Given the description of an element on the screen output the (x, y) to click on. 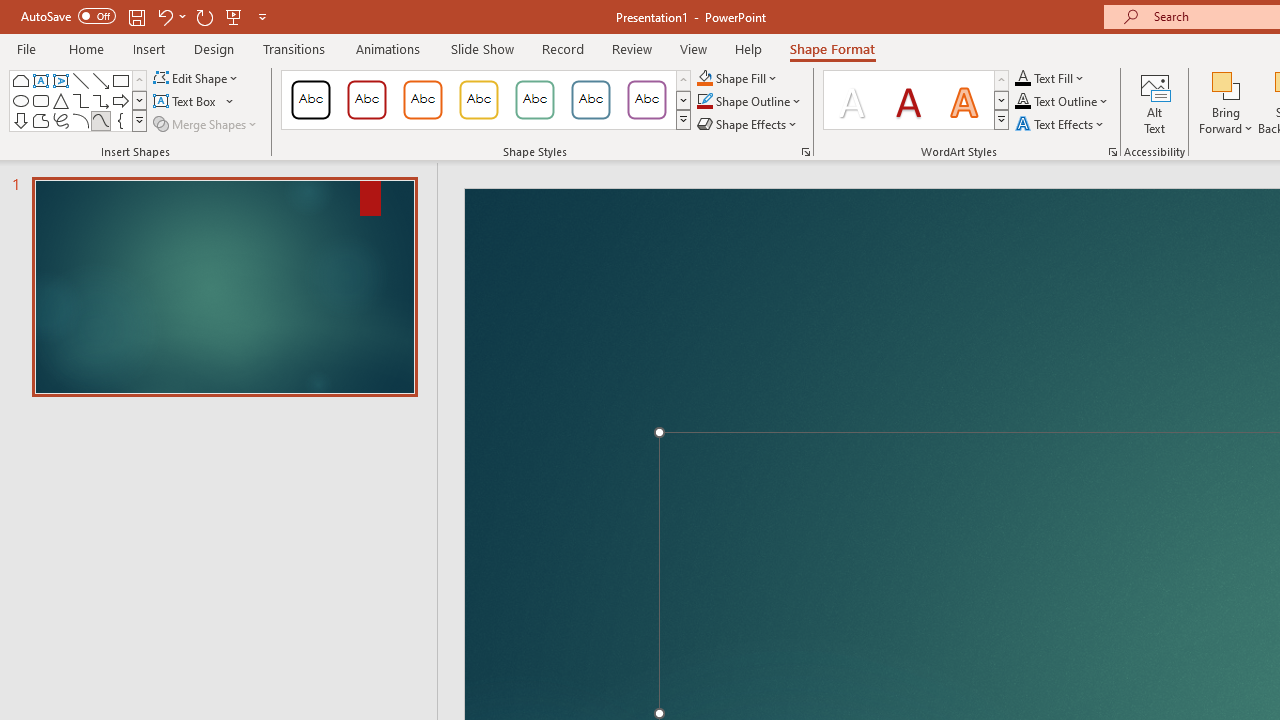
Colored Outline - Gold, Accent 3 (478, 100)
Animations (388, 48)
AutomationID: TextStylesGallery (916, 99)
Arrow: Right (120, 100)
Text Outline RGB(0, 0, 0) (1023, 101)
Fill: White, Text color 1; Shadow (852, 100)
Connector: Elbow Arrow (100, 100)
Text Outline (1062, 101)
Arrow: Down (20, 120)
Rectangle: Top Corners Snipped (20, 80)
Edit Shape (196, 78)
Shape Effects (748, 124)
Text Box (194, 101)
System (10, 11)
Shape Outline (749, 101)
